Given the description of an element on the screen output the (x, y) to click on. 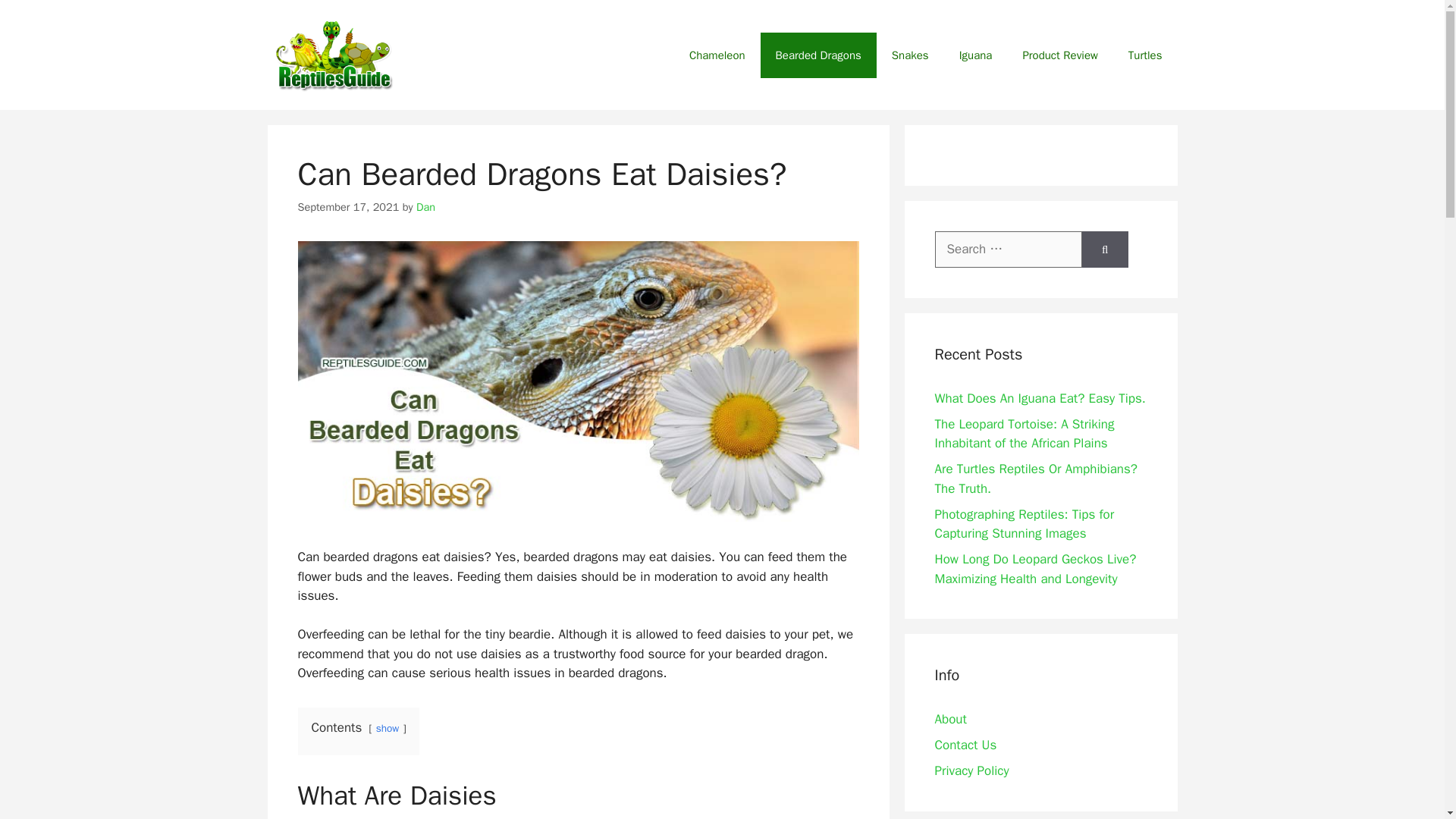
Privacy Policy (971, 770)
Product Review (1059, 54)
Chameleon (717, 54)
Bearded Dragons (818, 54)
Turtles (1145, 54)
About (950, 719)
What Does An Iguana Eat? Easy Tips. (1039, 398)
show (386, 727)
Contact Us (964, 744)
